Given the description of an element on the screen output the (x, y) to click on. 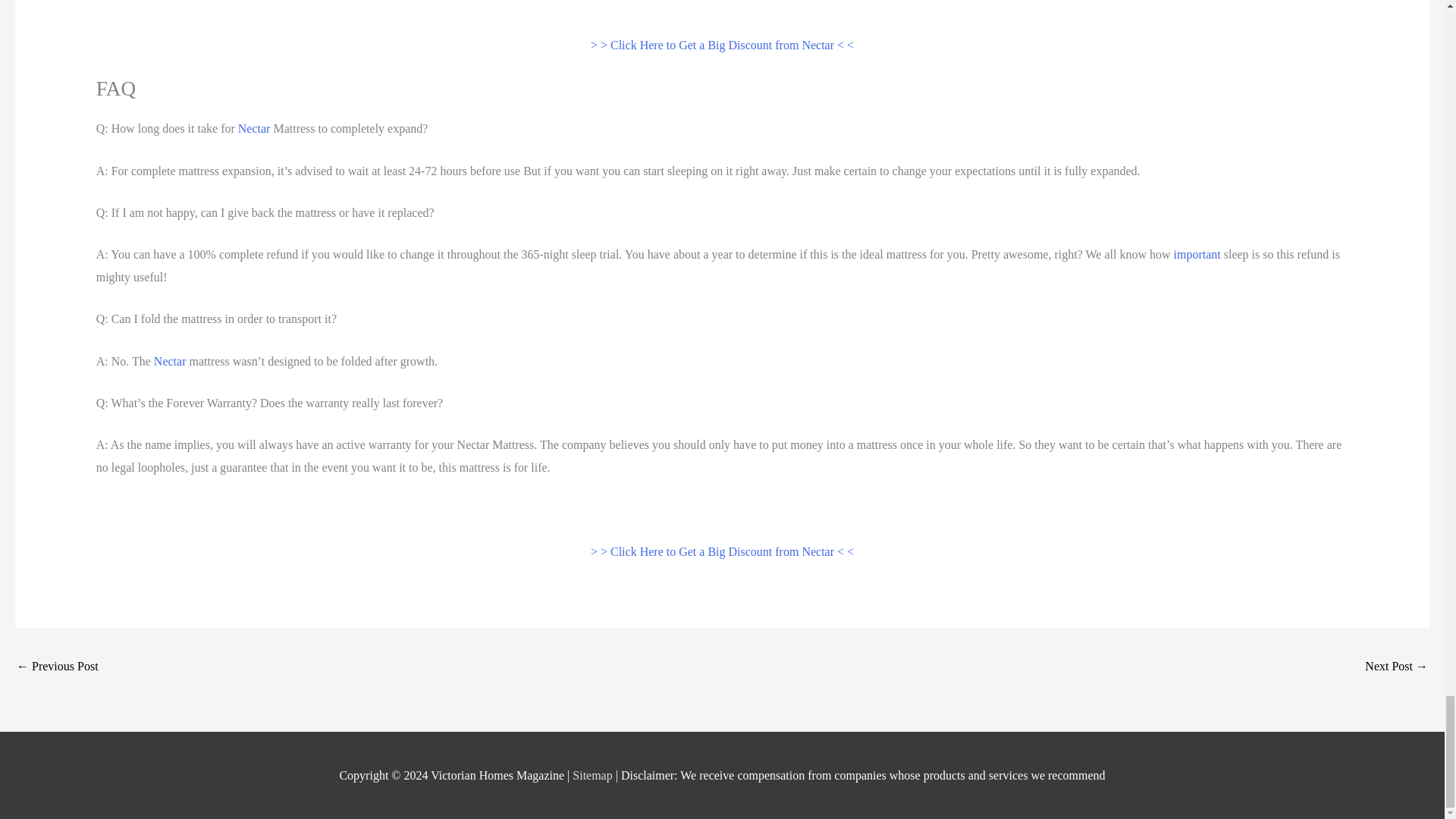
Nectar Mattress Turning Yellow (57, 667)
Nectar (170, 360)
Nectar (254, 128)
important (1196, 254)
Nectar King Mattress Prices (1396, 667)
Sitemap (593, 775)
